Given the description of an element on the screen output the (x, y) to click on. 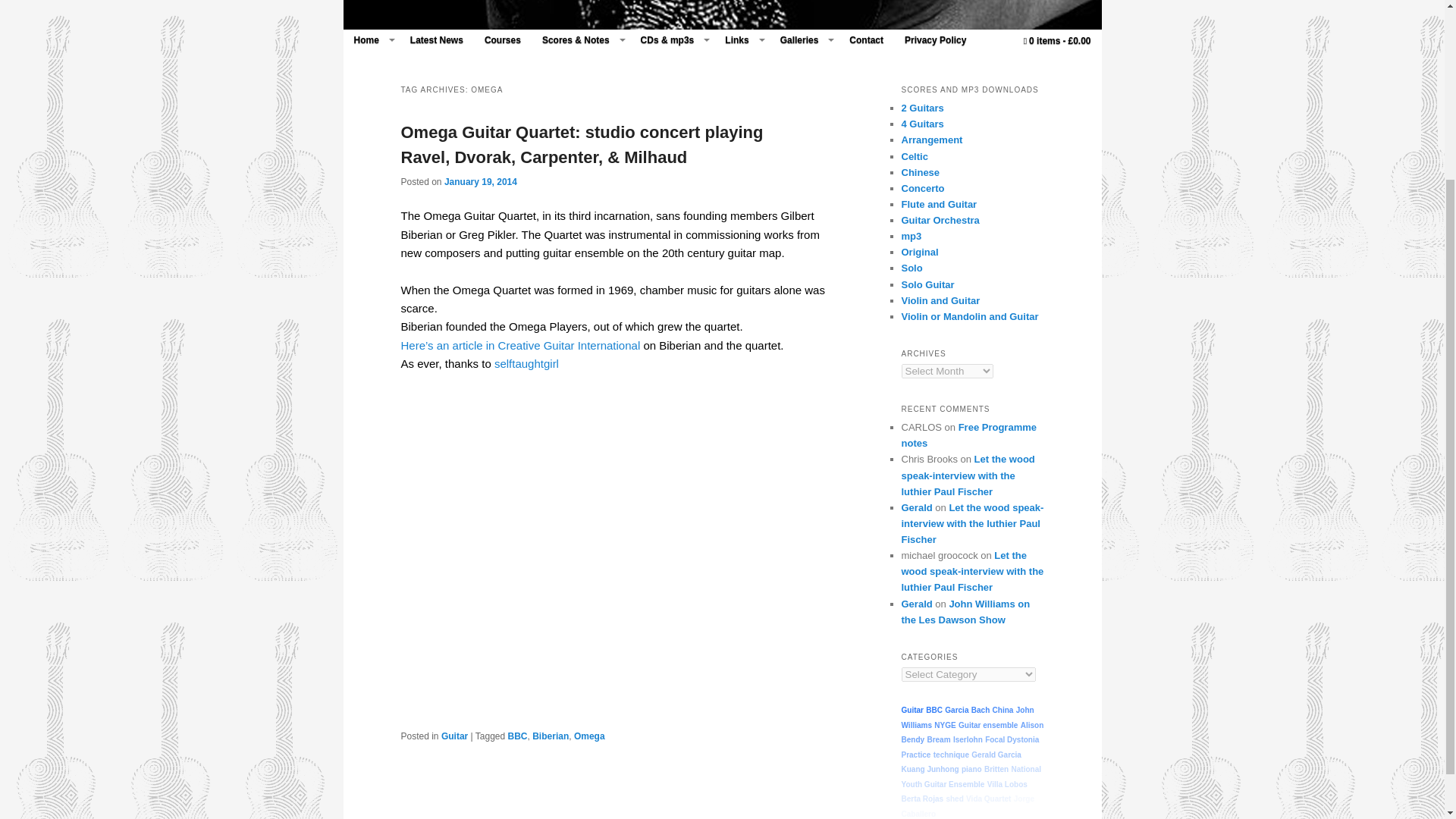
Start shopping (1057, 41)
Home (370, 40)
Courses (502, 40)
Latest News (436, 40)
12:33 am (480, 181)
